Given the description of an element on the screen output the (x, y) to click on. 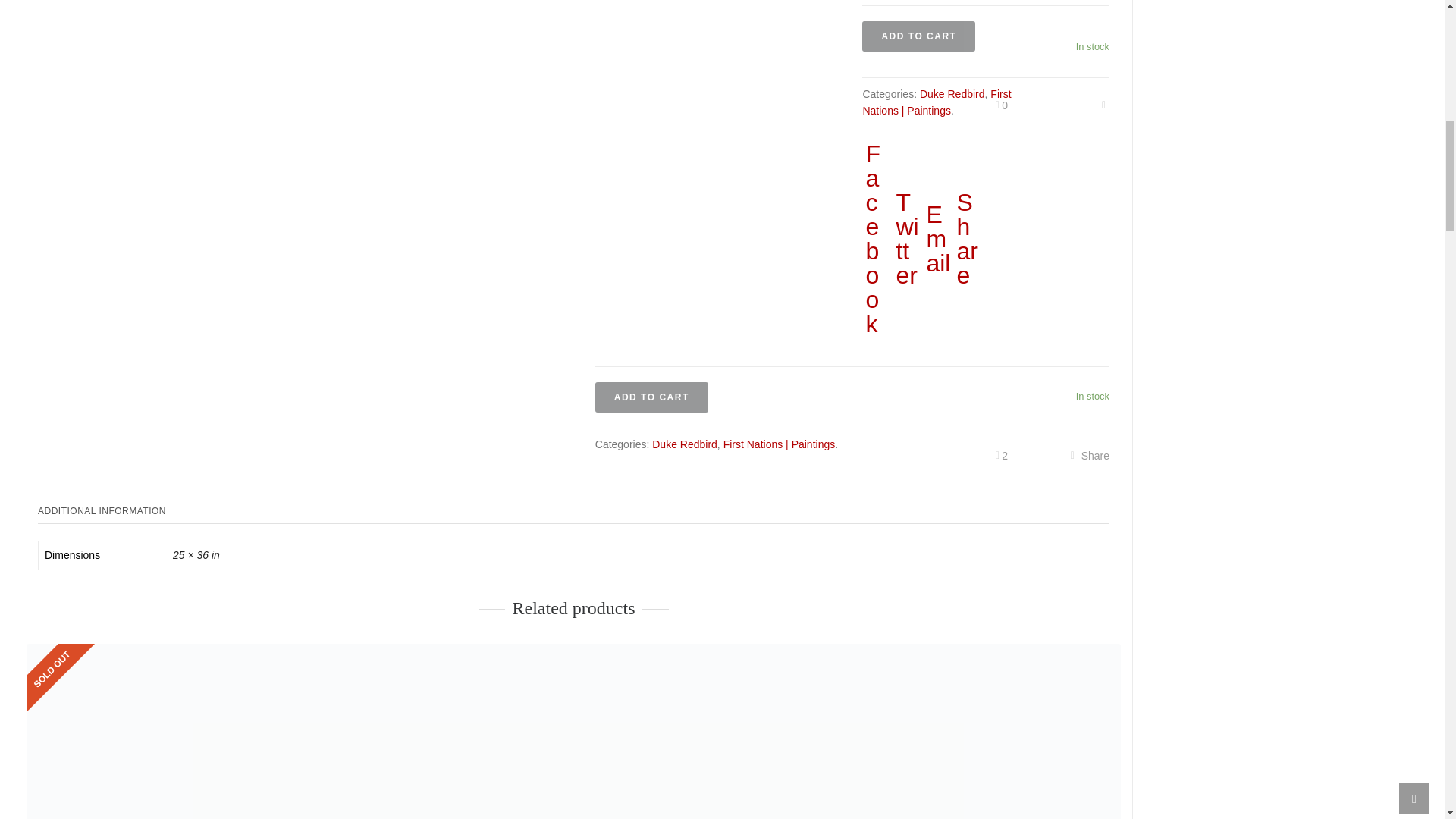
ADD TO CART (651, 397)
ADD TO CART (918, 36)
Duke Redbird (952, 93)
Duke Redbird (684, 444)
